Given the description of an element on the screen output the (x, y) to click on. 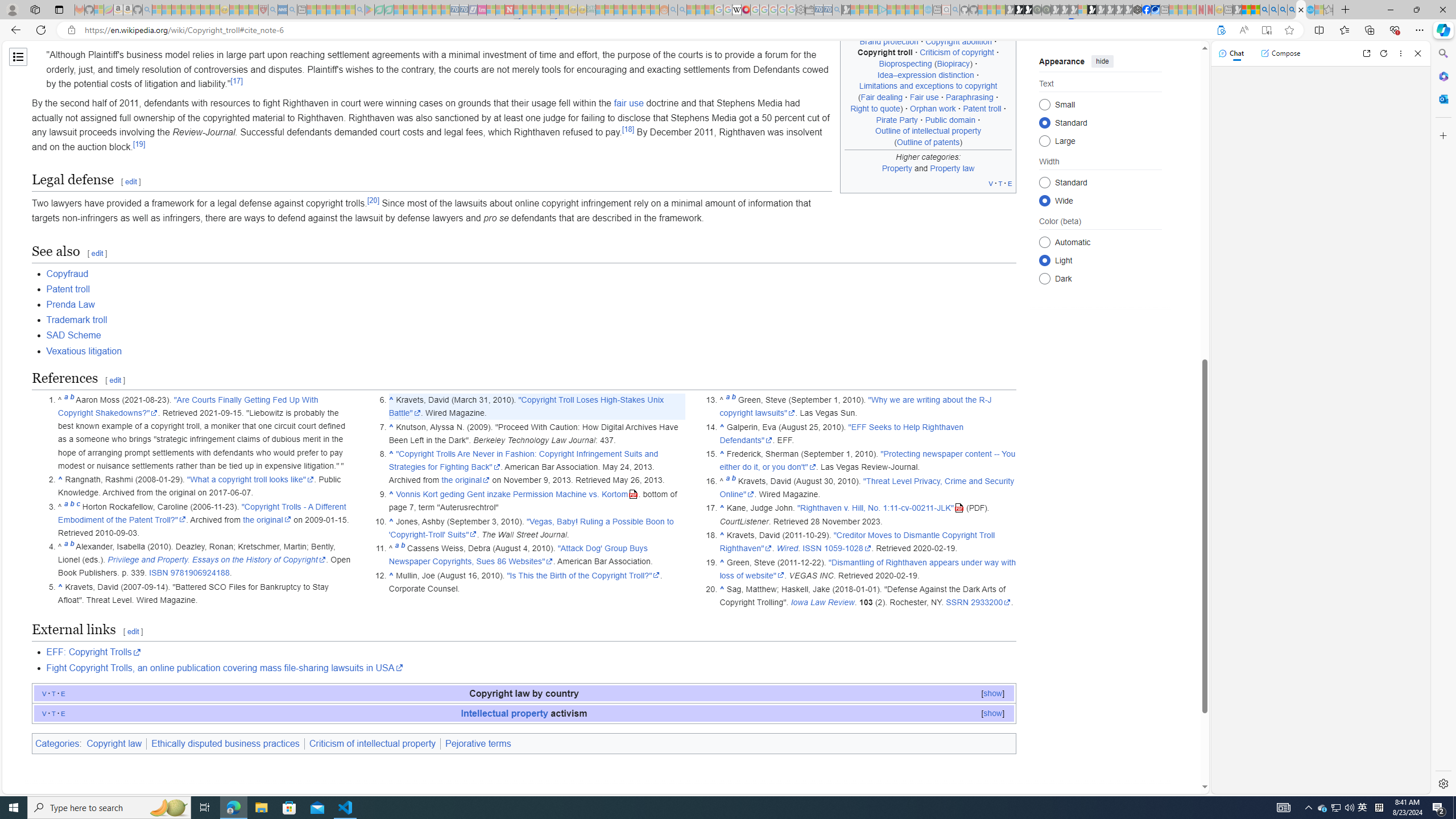
Property law (952, 167)
Copyright troll - Wikipedia (1300, 9)
Sign in to your account - Sleeping (1082, 9)
Favorites - Sleeping (1328, 9)
EFF: Copyright Trolls (531, 652)
[17] (236, 80)
DITOGAMES AG Imprint - Sleeping (590, 9)
MediaWiki (745, 9)
Terms of Use Agreement - Sleeping (378, 9)
Microsoft-Report a Concern to Bing - Sleeping (98, 9)
NCL Adult Asthma Inhaler Choice Guideline - Sleeping (282, 9)
Kinda Frugal - MSN - Sleeping (636, 9)
Bing Real Estate - Home sales and rental listings - Sleeping (836, 9)
